Given the description of an element on the screen output the (x, y) to click on. 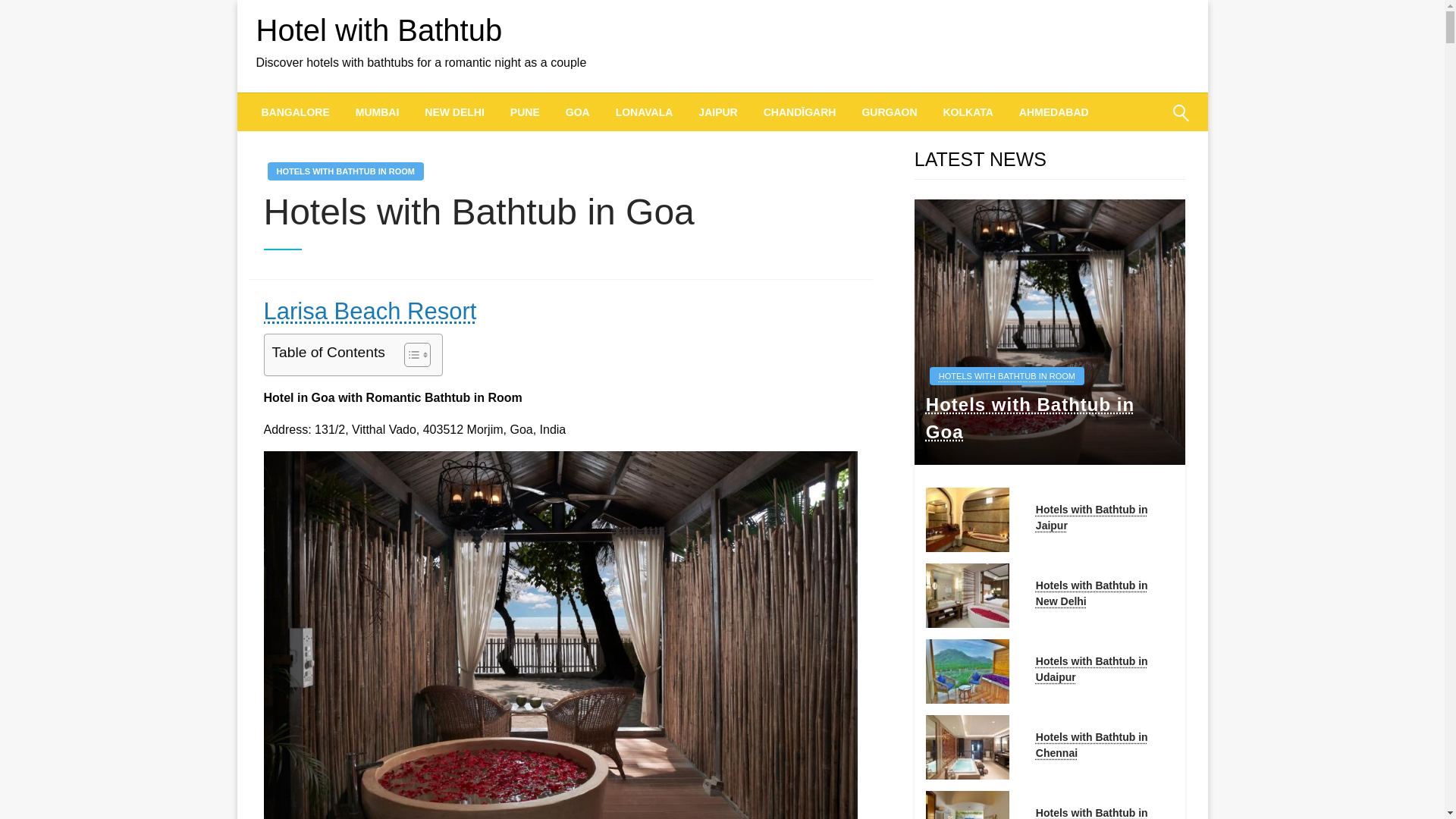
JAIPUR (717, 112)
NEW DELHI (454, 112)
GOA (577, 112)
Search (1144, 122)
GURGAON (889, 112)
Hotel with Bathtub (379, 29)
BANGALORE (295, 112)
AHMEDABAD (1054, 112)
LONAVALA (643, 112)
